Given the description of an element on the screen output the (x, y) to click on. 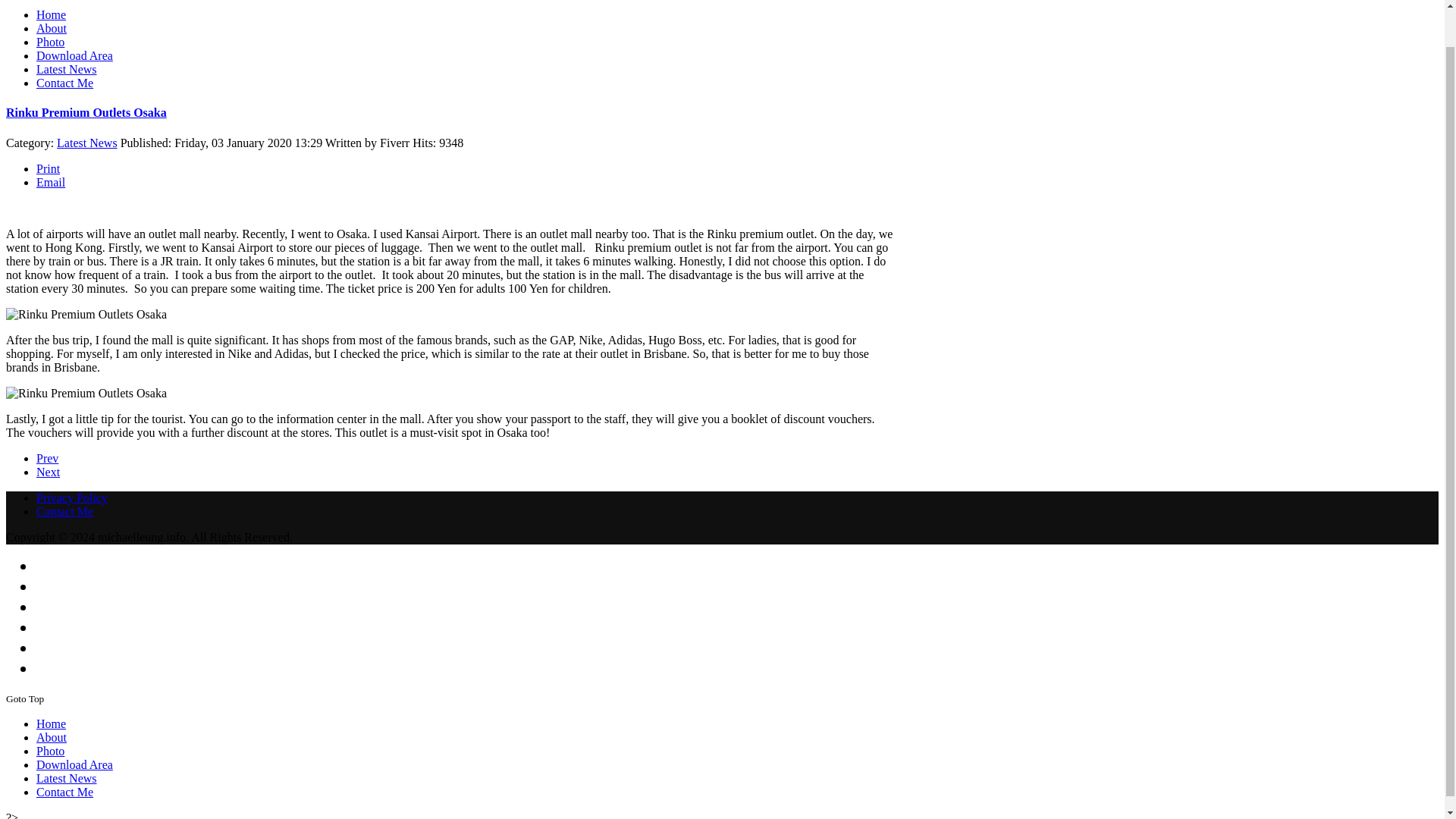
Rinku Premium Outlets Osaka (86, 112)
Photo (50, 750)
Latest News (66, 69)
Download Area (74, 55)
Goto Top (24, 697)
Contact Me (64, 791)
Email (50, 182)
Email this link to a friend (50, 182)
Home (50, 14)
Goto Top (24, 697)
About (51, 28)
Latest News (86, 142)
Latest News (66, 778)
Osaka Castle  (47, 472)
Contact Me (64, 82)
